Given the description of an element on the screen output the (x, y) to click on. 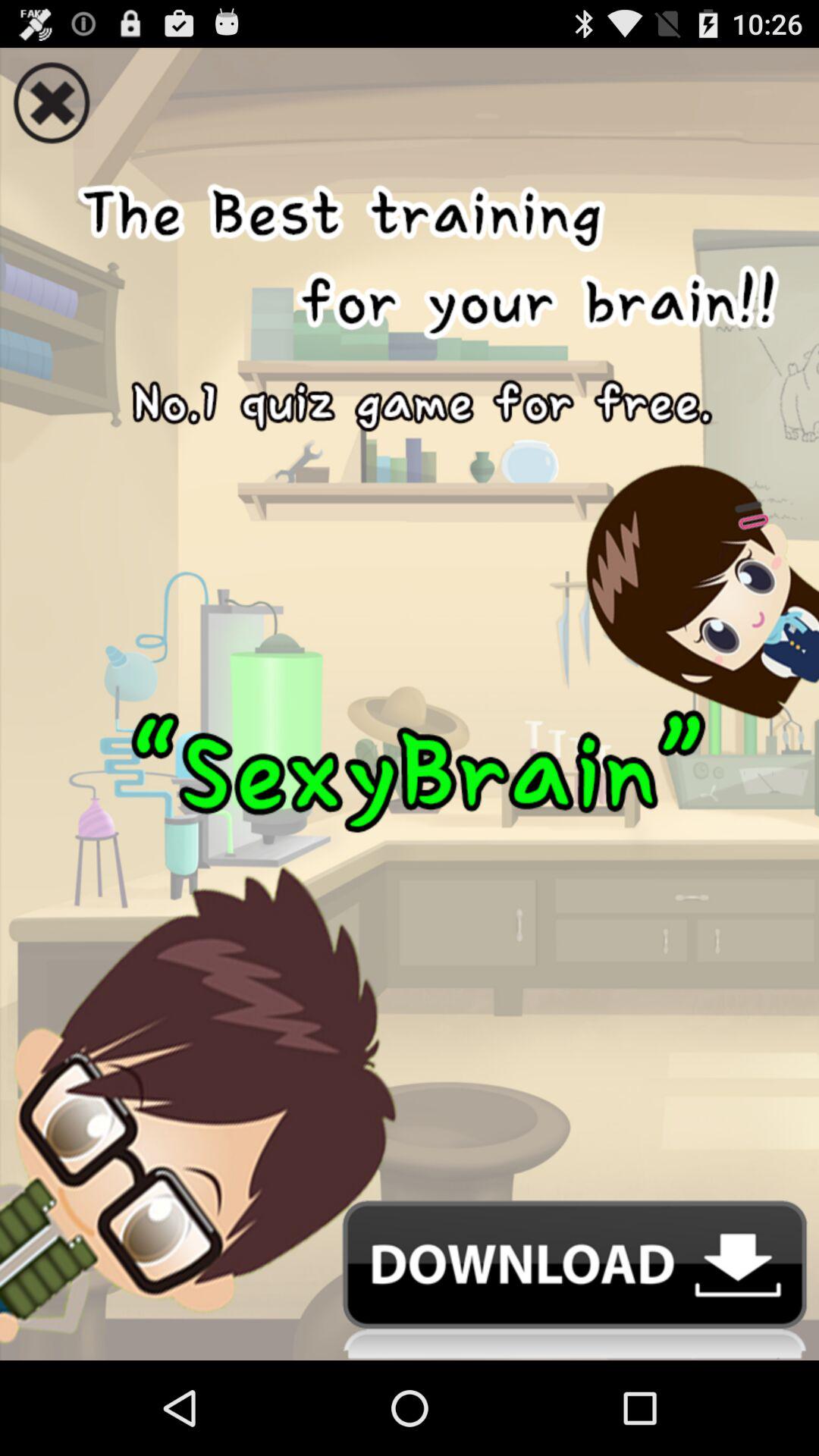
download the app (409, 1280)
